Given the description of an element on the screen output the (x, y) to click on. 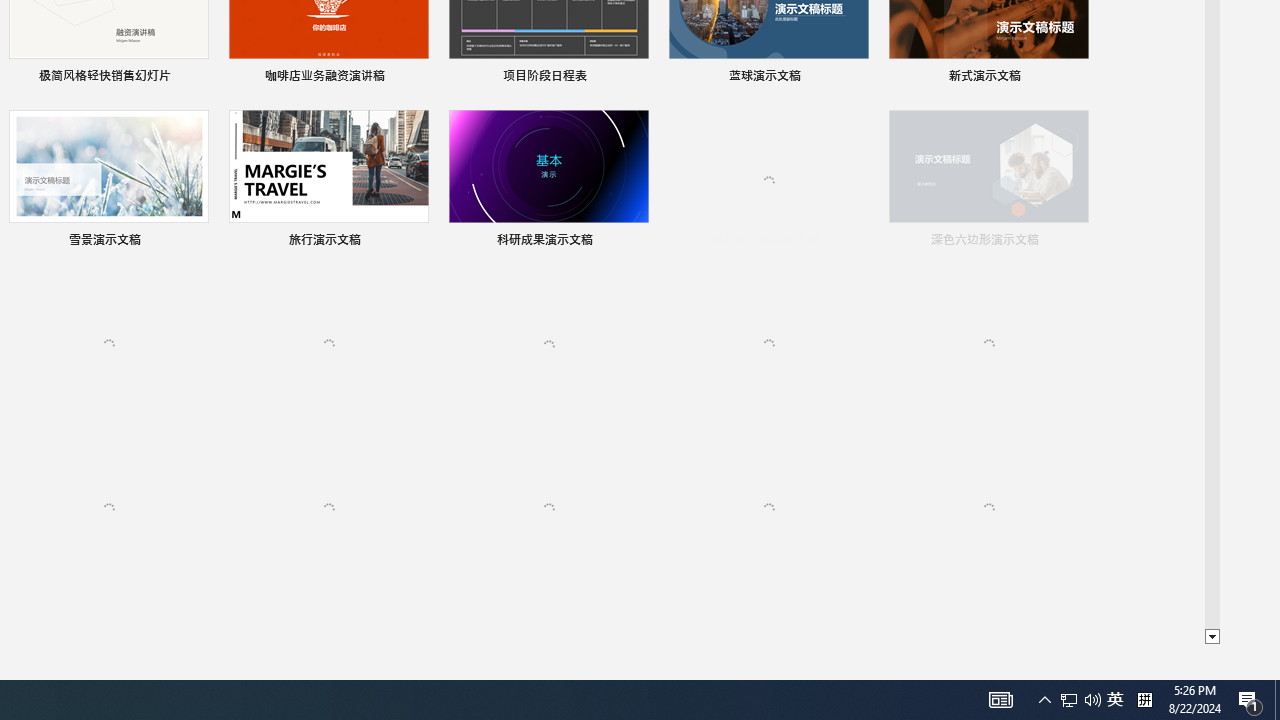
Pin to list (1075, 569)
